Given the description of an element on the screen output the (x, y) to click on. 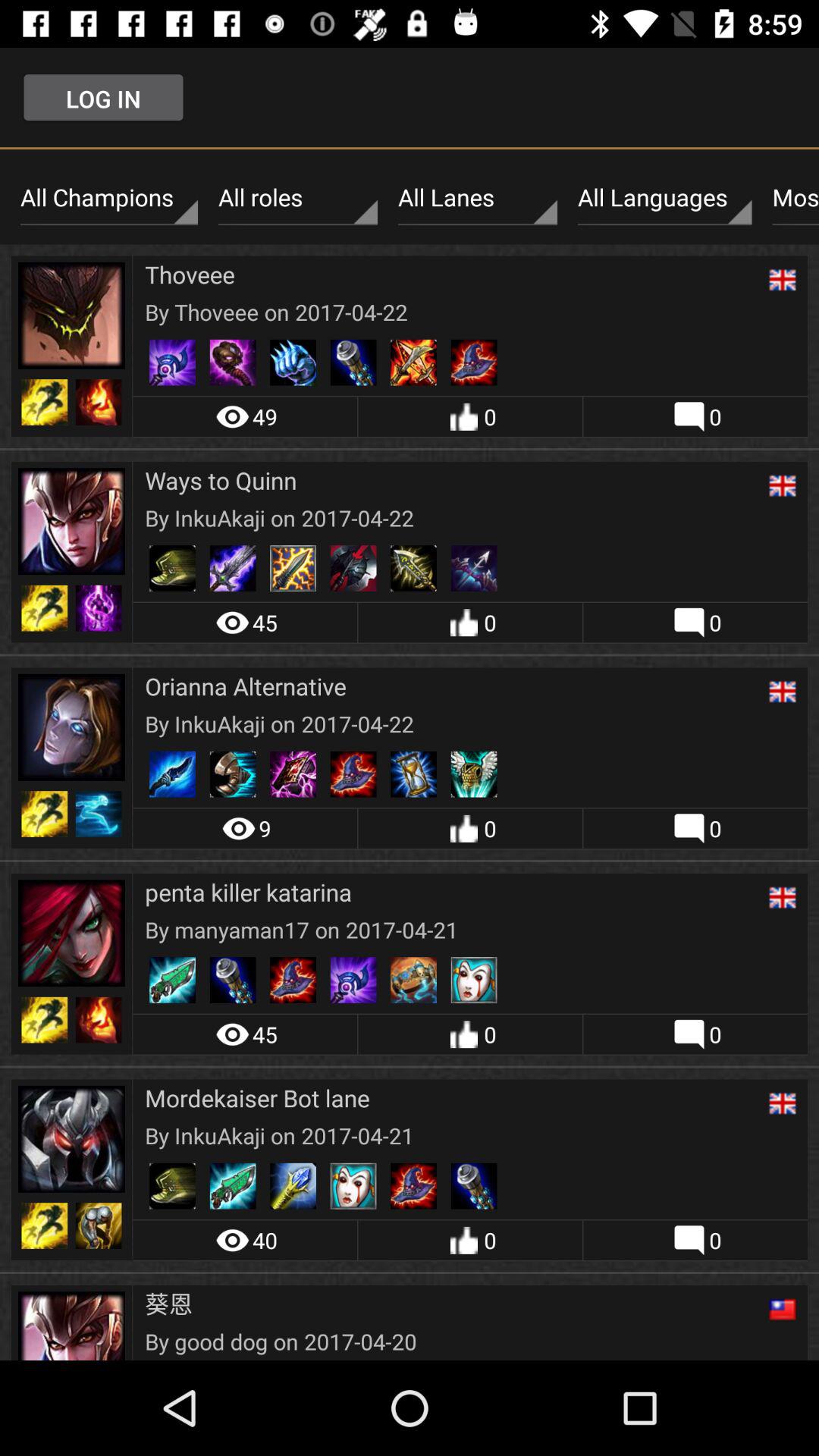
tap the icon to the left of the most recent item (664, 198)
